Given the description of an element on the screen output the (x, y) to click on. 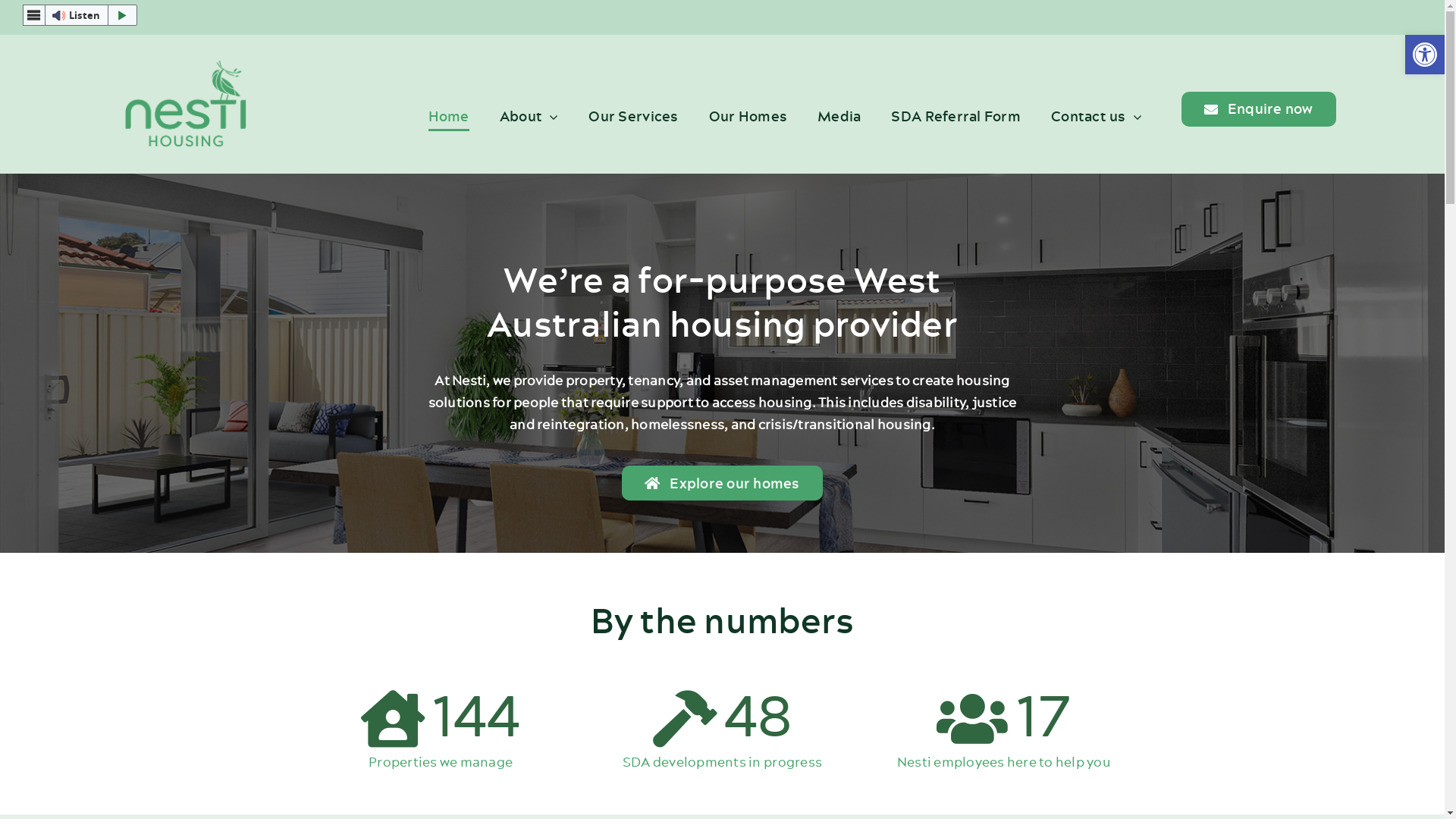
Our Services Element type: text (632, 116)
Media Element type: text (838, 116)
Open toolbar
Accessibility Element type: text (1424, 54)
webReader menu Element type: hover (33, 14)
Home Element type: text (448, 116)
Enquire now Element type: text (1258, 108)
About Element type: text (528, 116)
SDA Referral Form Element type: text (955, 116)
Listen Element type: text (79, 14)
Explore our homes Element type: text (721, 482)
Contact us Element type: text (1096, 116)
Our Homes Element type: text (748, 116)
